Given the description of an element on the screen output the (x, y) to click on. 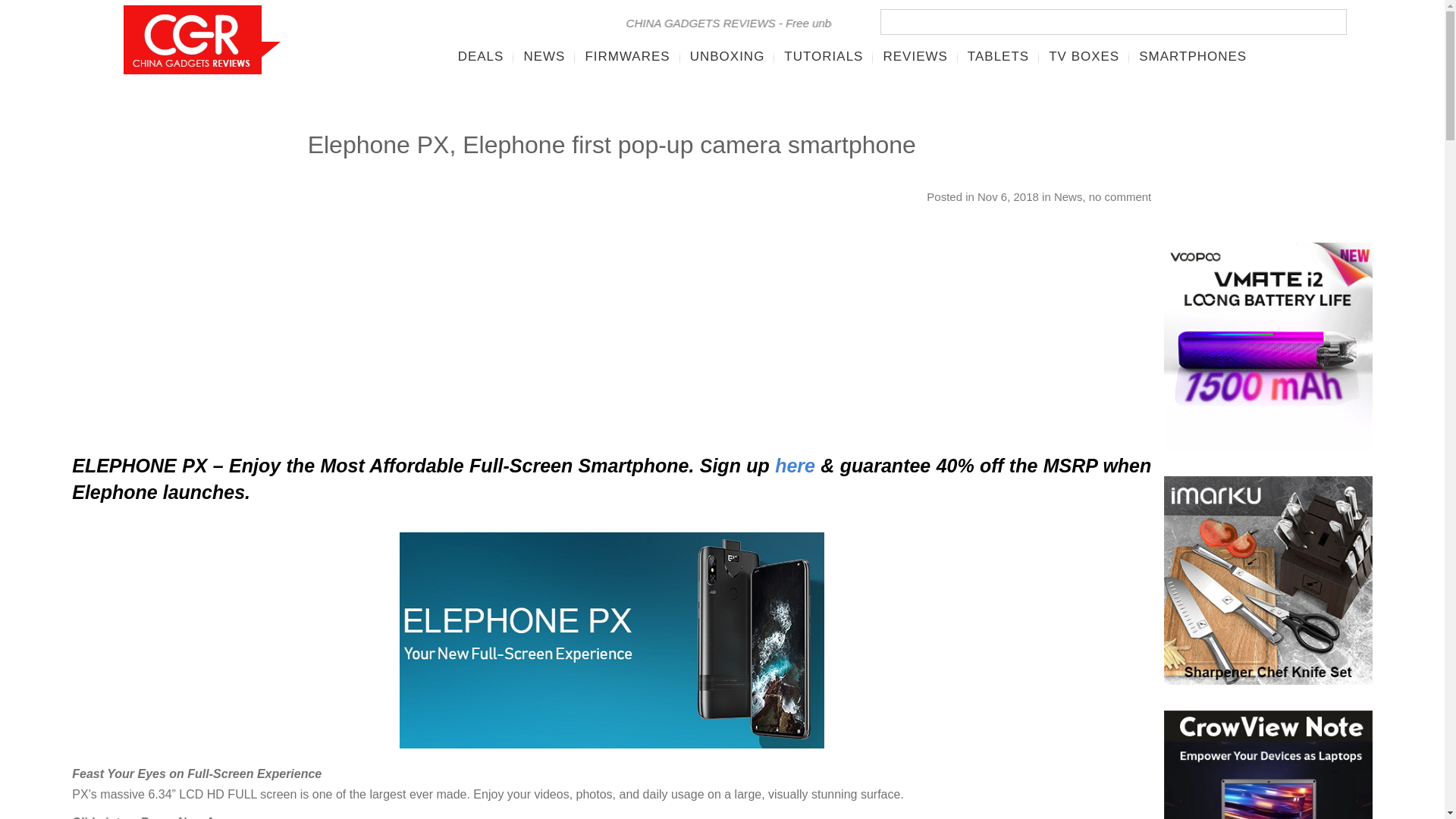
TUTORIALS (823, 56)
TABLETS (998, 56)
DEALS (480, 56)
REVIEWS (914, 56)
UNBOXING (726, 56)
News (1068, 196)
FIRMWARES (627, 56)
TV BOXES (1084, 56)
SMARTPHONES (1192, 56)
